Given the description of an element on the screen output the (x, y) to click on. 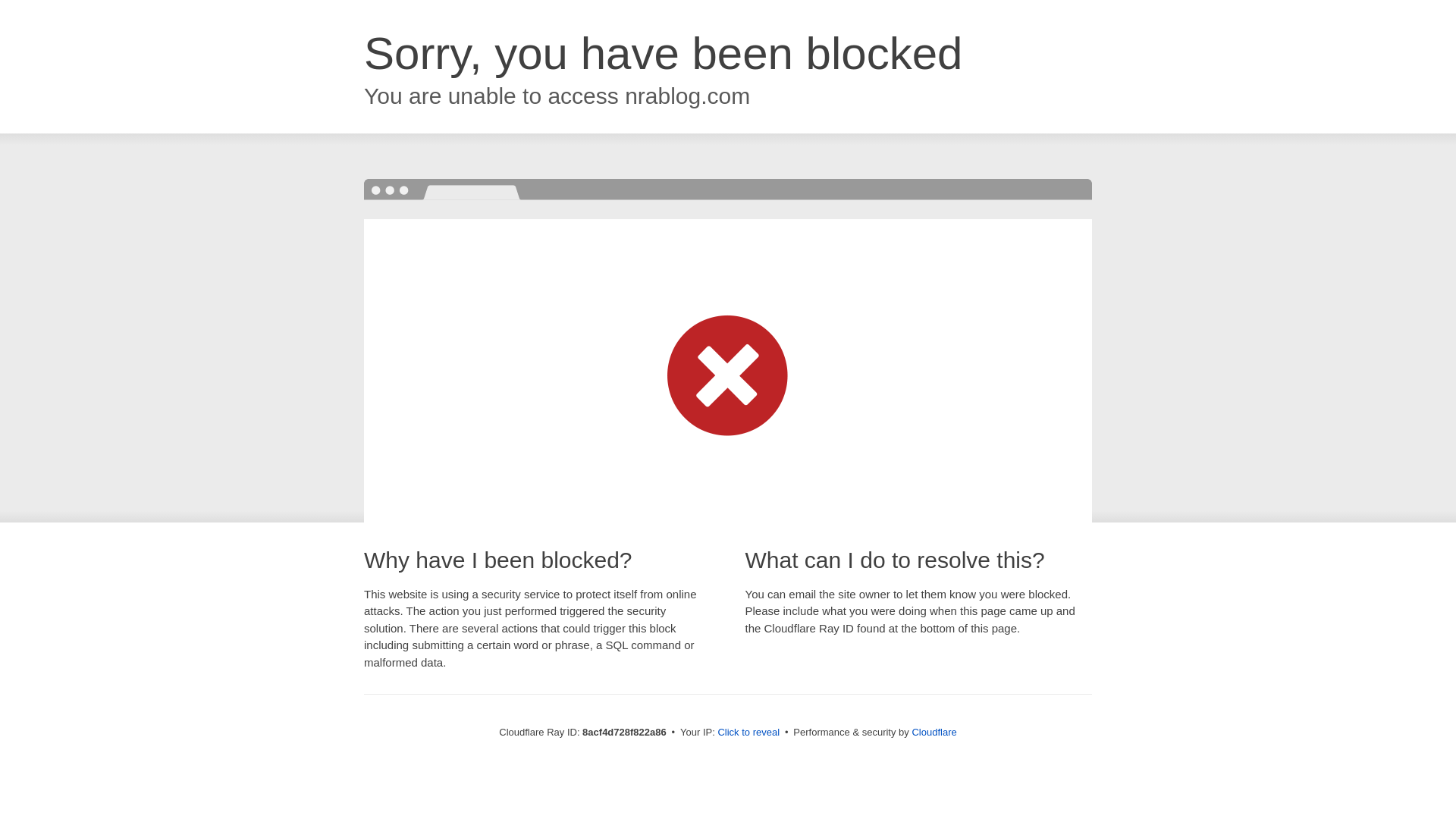
Click to reveal (747, 732)
Cloudflare (933, 731)
